Given the description of an element on the screen output the (x, y) to click on. 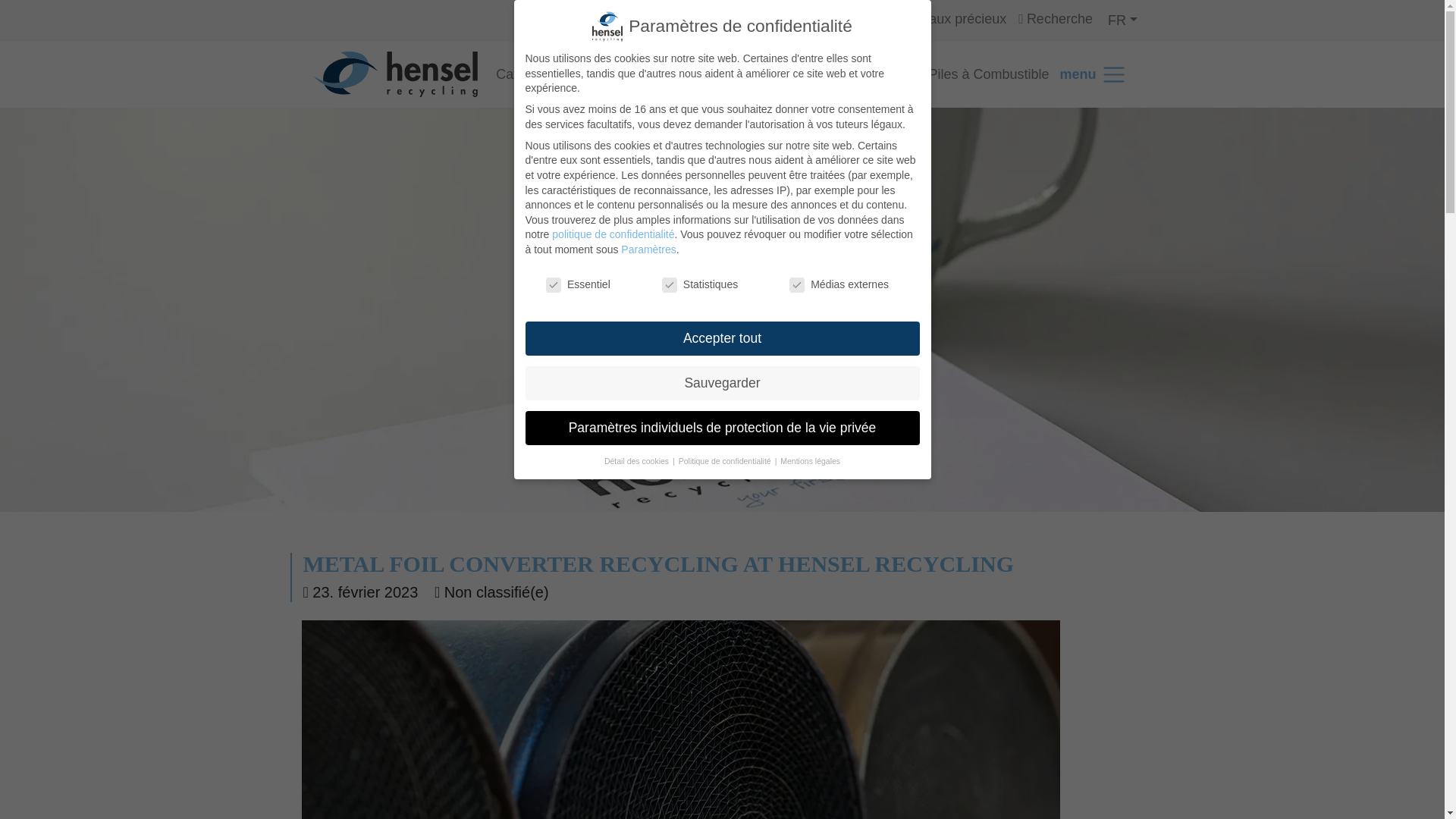
Contact (756, 19)
Portail Client (843, 18)
Portail Client (843, 18)
Recherche (1055, 18)
Contact (756, 19)
